Given the description of an element on the screen output the (x, y) to click on. 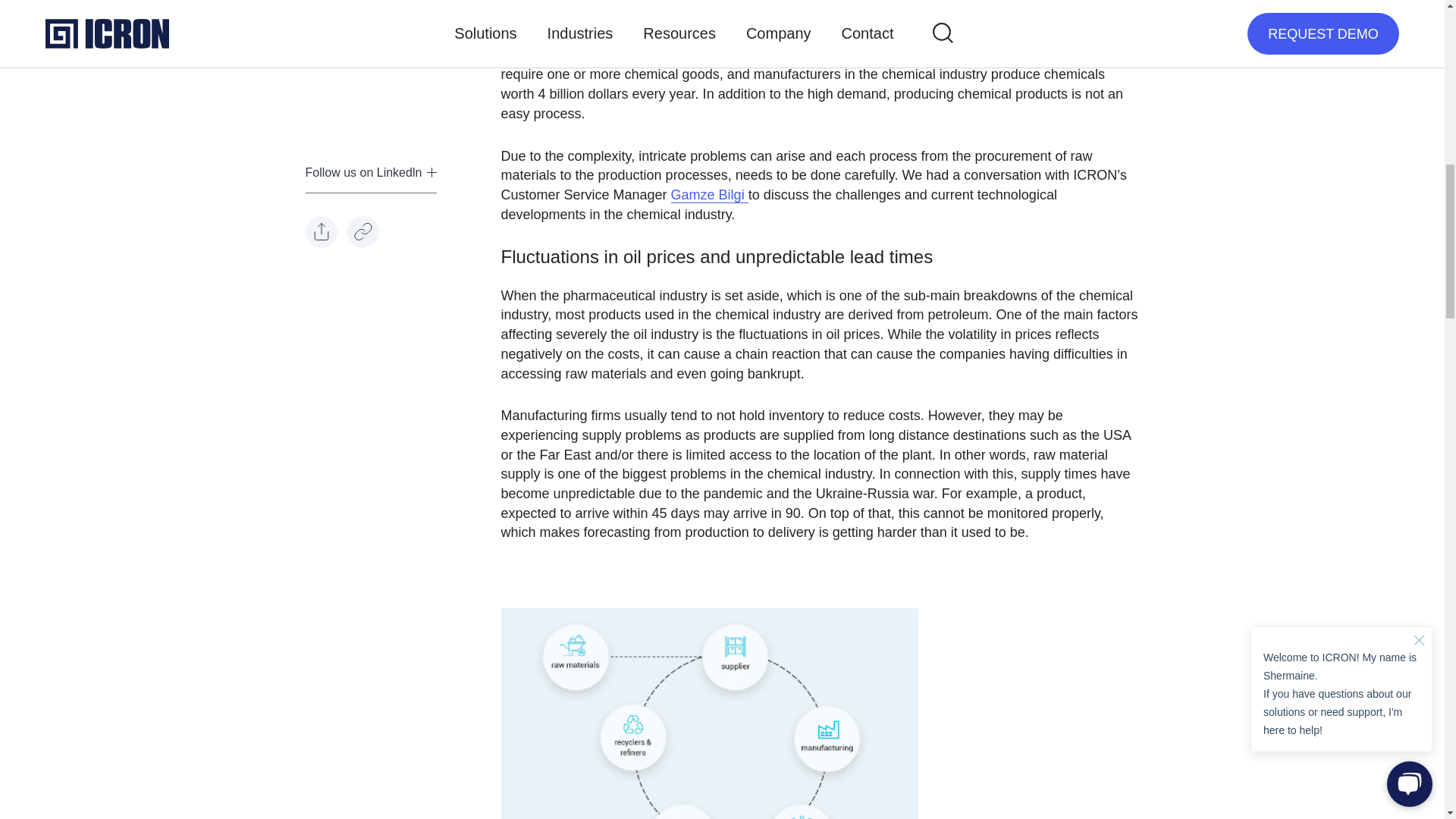
Chemical Industry Manufacturing Cycle (708, 713)
